Given the description of an element on the screen output the (x, y) to click on. 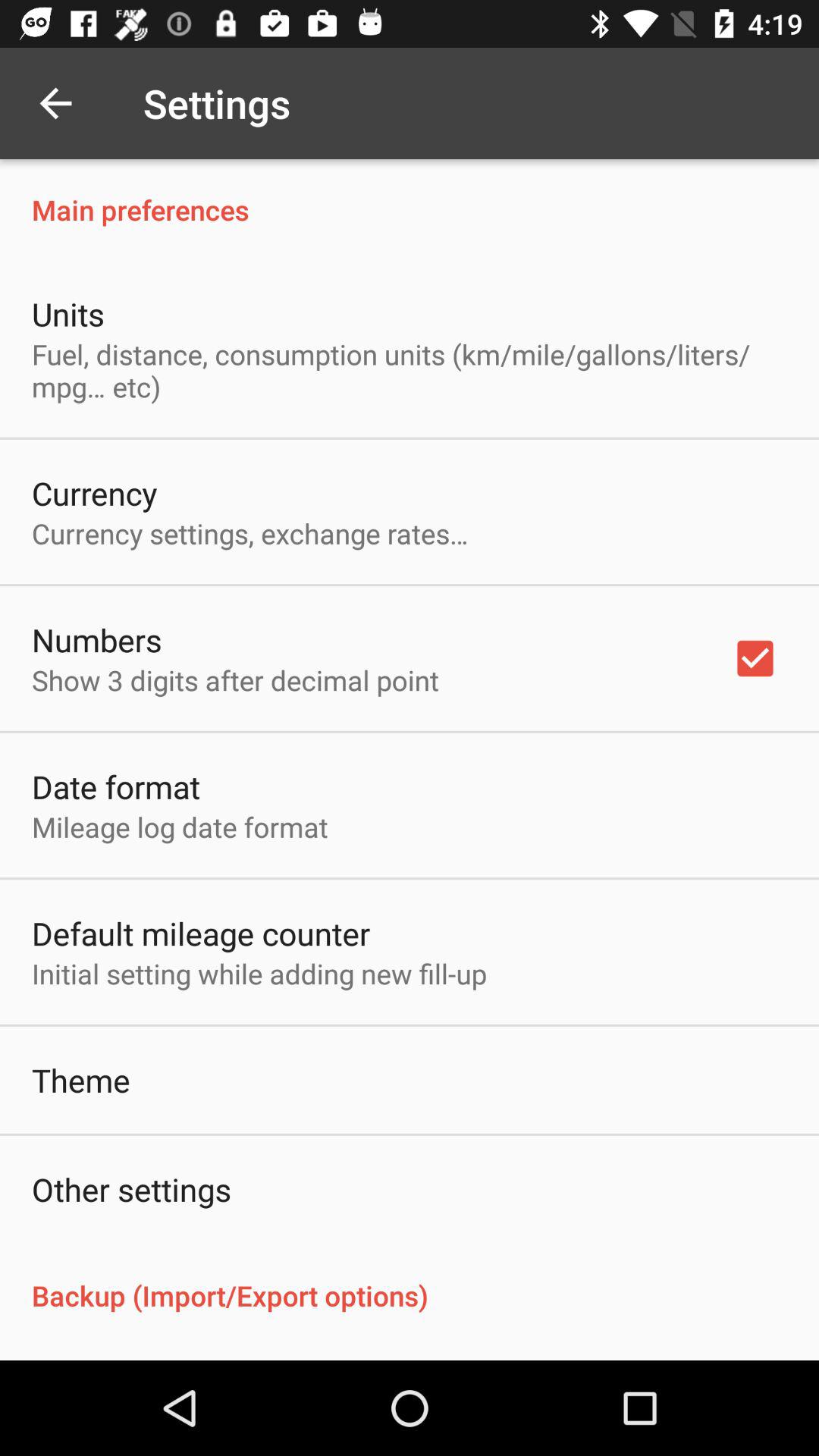
press the item next to the settings icon (55, 103)
